Given the description of an element on the screen output the (x, y) to click on. 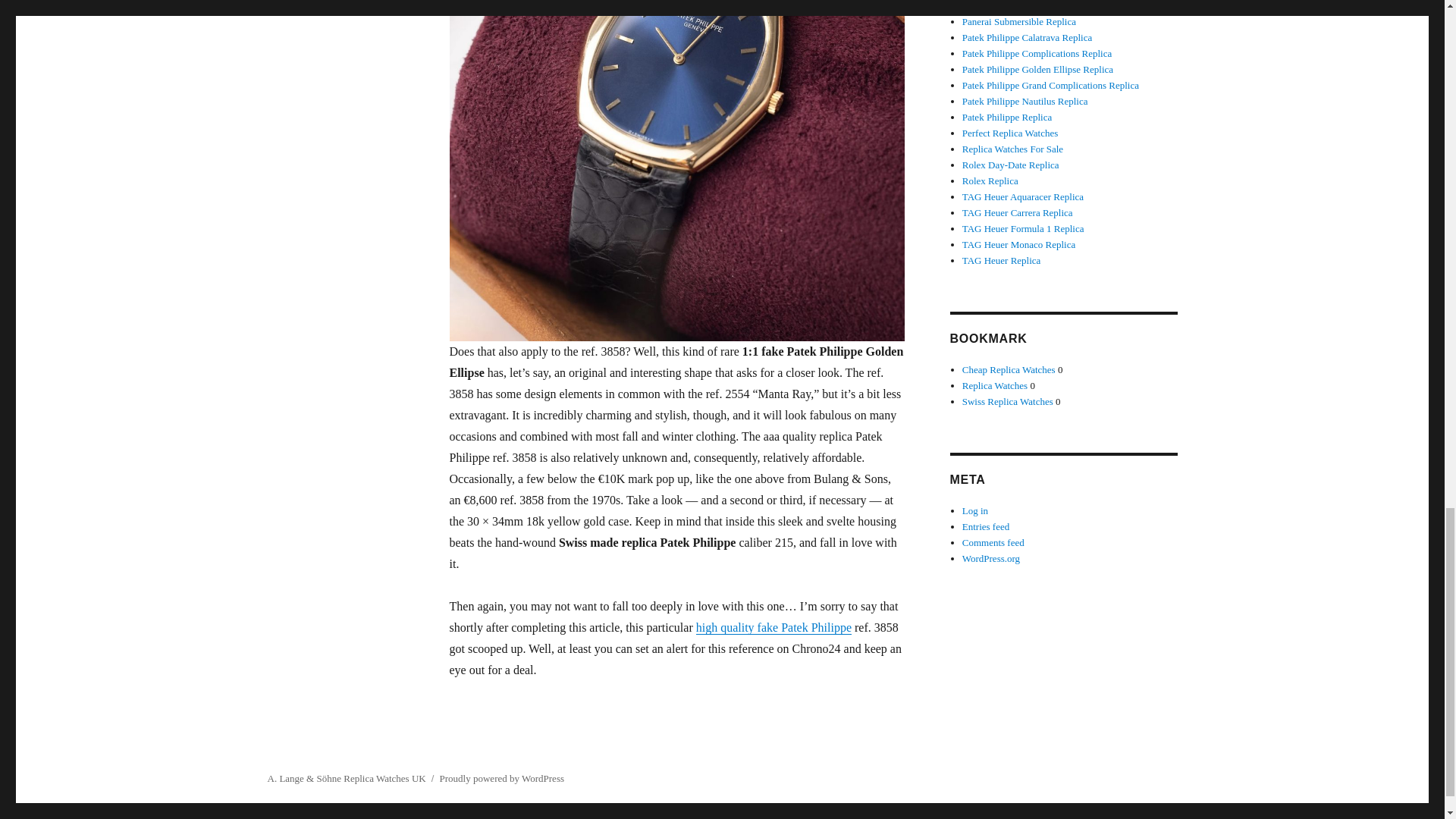
high quality fake Patek Philippe (773, 626)
